Given the description of an element on the screen output the (x, y) to click on. 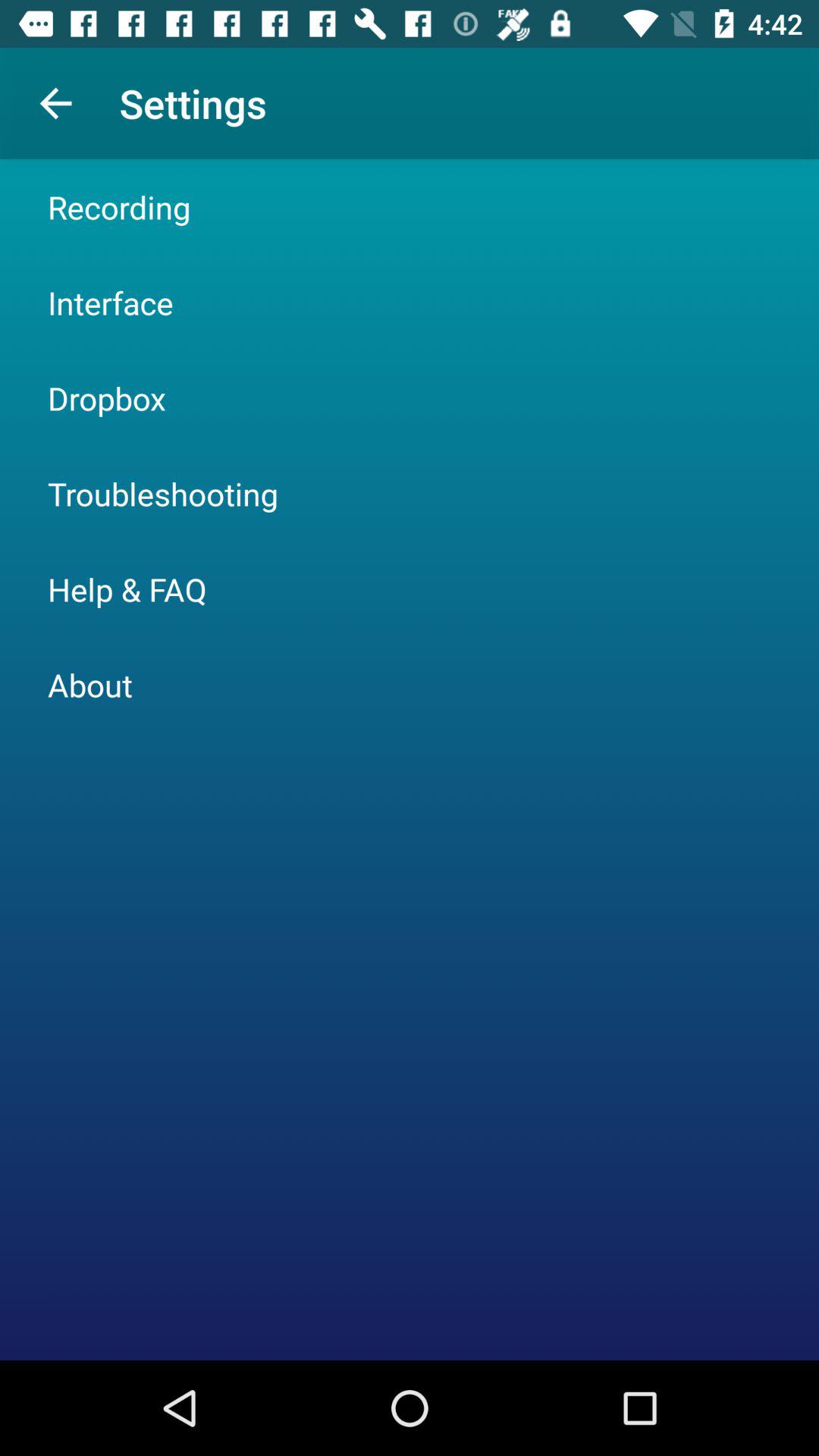
swipe until the dropbox (106, 397)
